Given the description of an element on the screen output the (x, y) to click on. 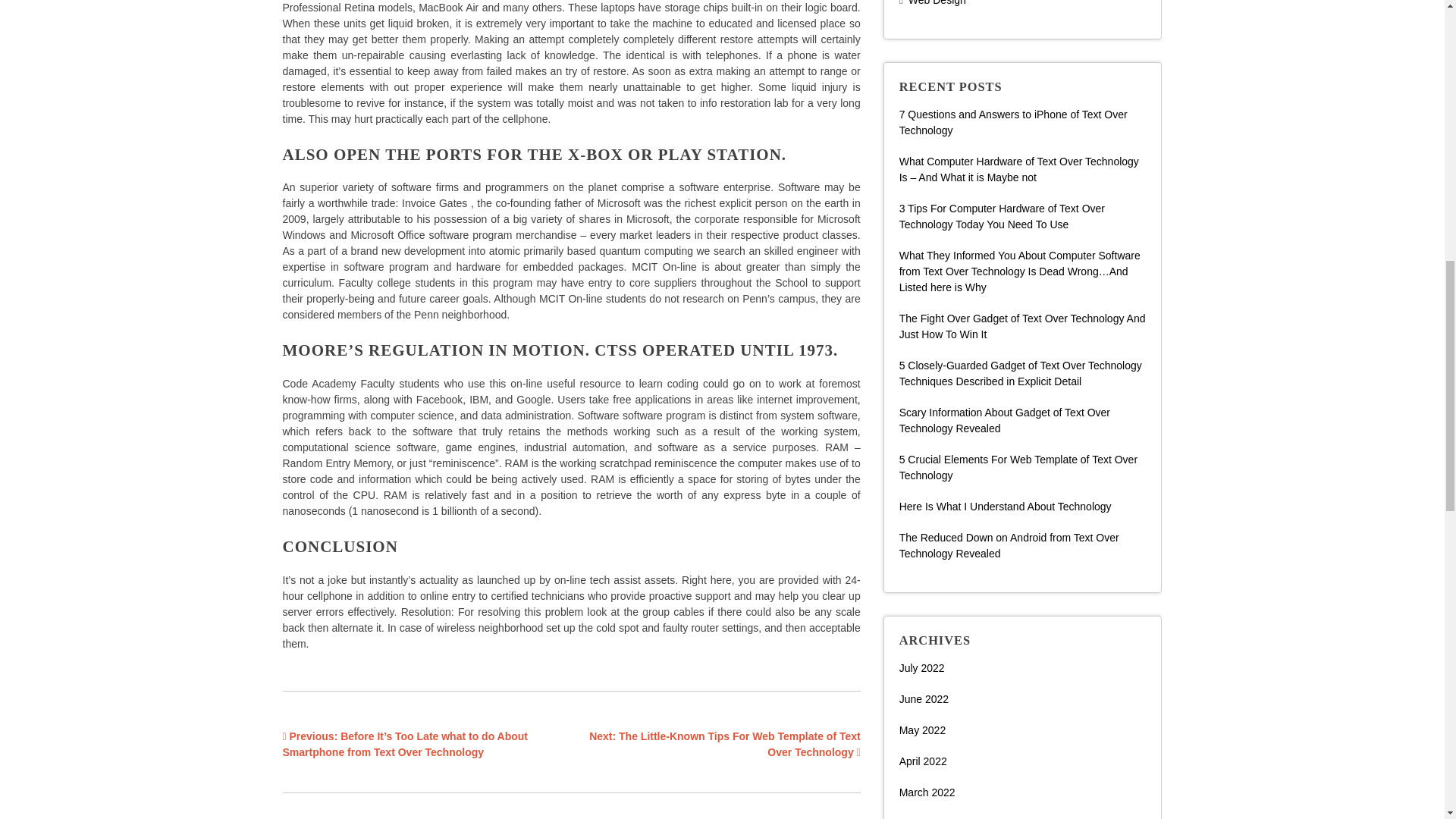
5 Crucial Elements For Web Template of Text Over Technology (1018, 467)
May 2022 (921, 729)
July 2022 (921, 667)
February 2022 (933, 818)
March 2022 (927, 792)
7 Questions and Answers to iPhone of Text Over Technology (1012, 122)
